Given the description of an element on the screen output the (x, y) to click on. 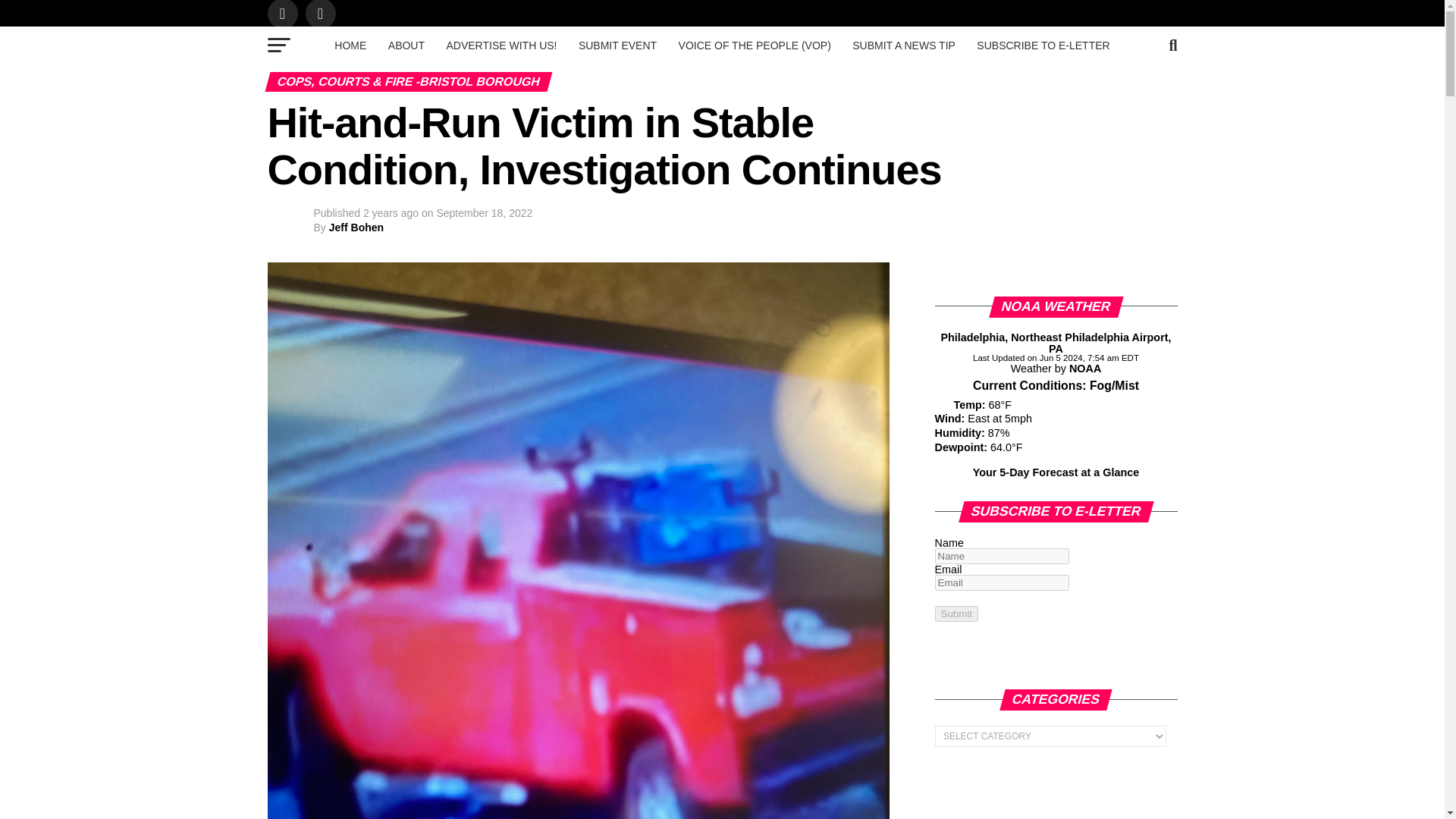
HOME (349, 45)
SUBSCRIBE TO E-LETTER (1043, 45)
Jeff Bohen (356, 227)
ADVERTISE WITH US! (501, 45)
SUBMIT A NEWS TIP (903, 45)
Posts by Jeff Bohen (356, 227)
NOAA's National Weather Service (1084, 368)
SUBMIT EVENT (617, 45)
Submit (955, 613)
ABOUT (405, 45)
